Given the description of an element on the screen output the (x, y) to click on. 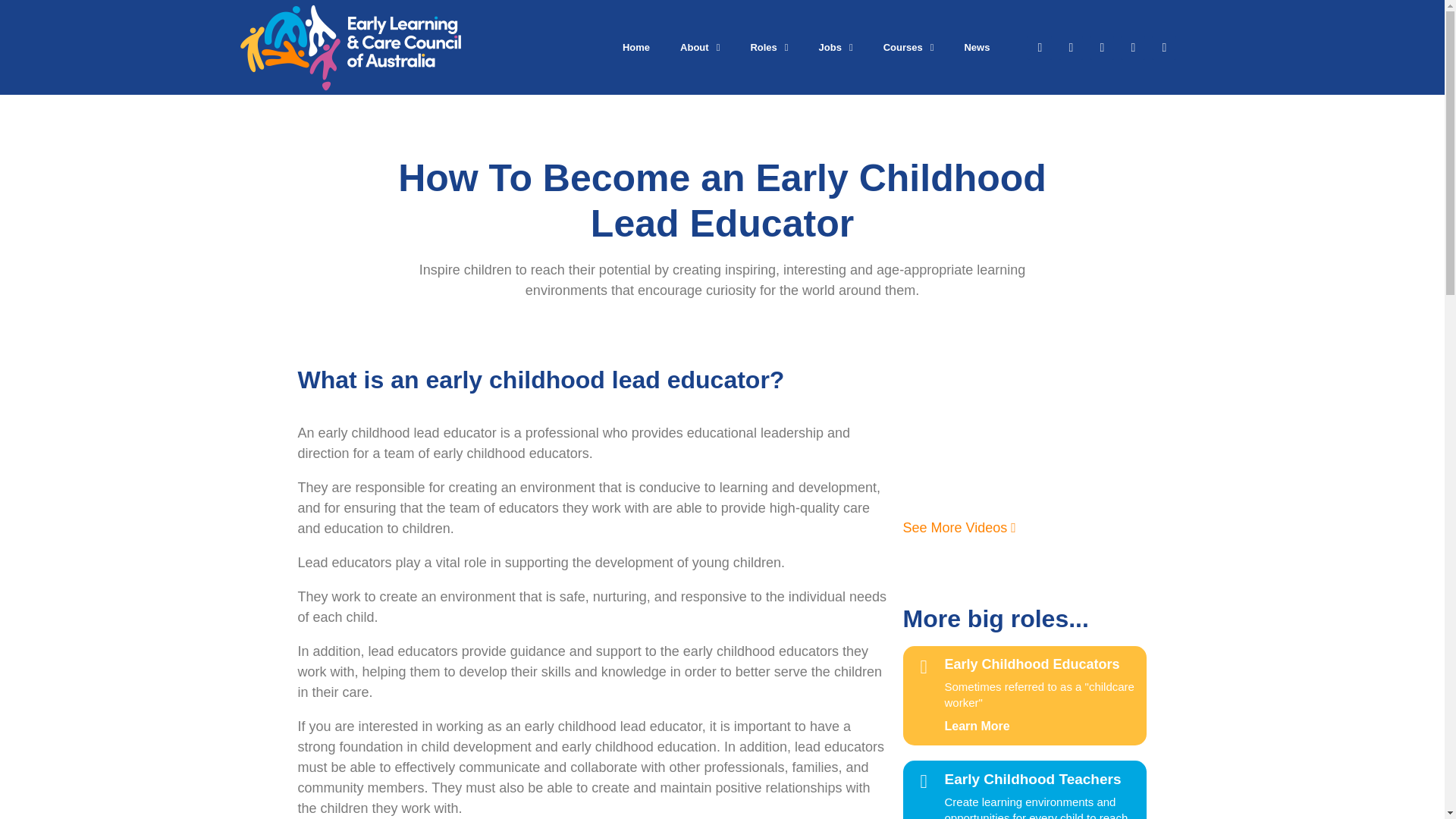
Home (636, 47)
Jobs (835, 47)
Roles (769, 47)
About (700, 47)
News (976, 47)
Courses (908, 47)
